Given the description of an element on the screen output the (x, y) to click on. 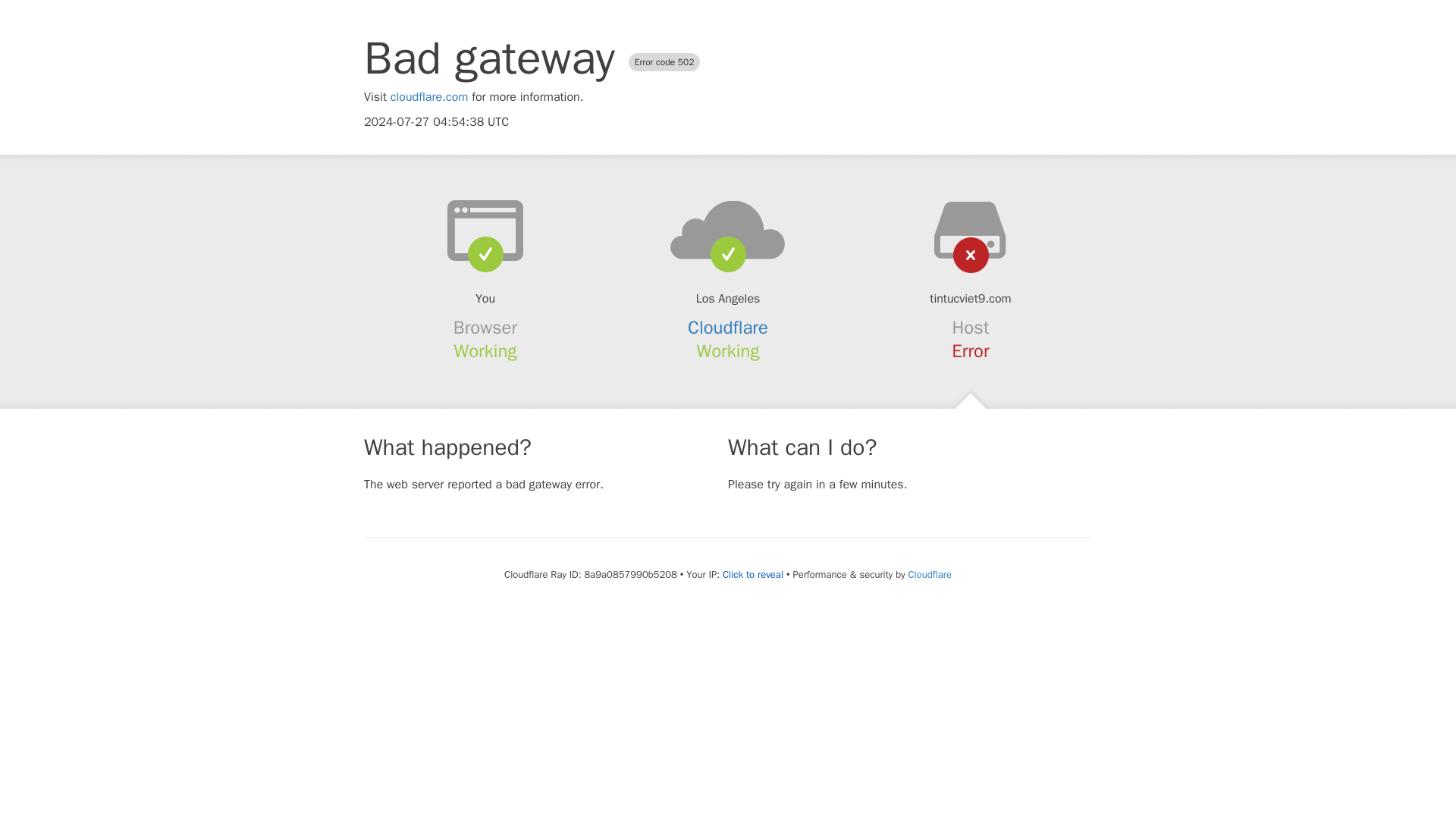
Cloudflare (930, 574)
Cloudflare (727, 327)
Click to reveal (752, 574)
cloudflare.com (429, 96)
